Given the description of an element on the screen output the (x, y) to click on. 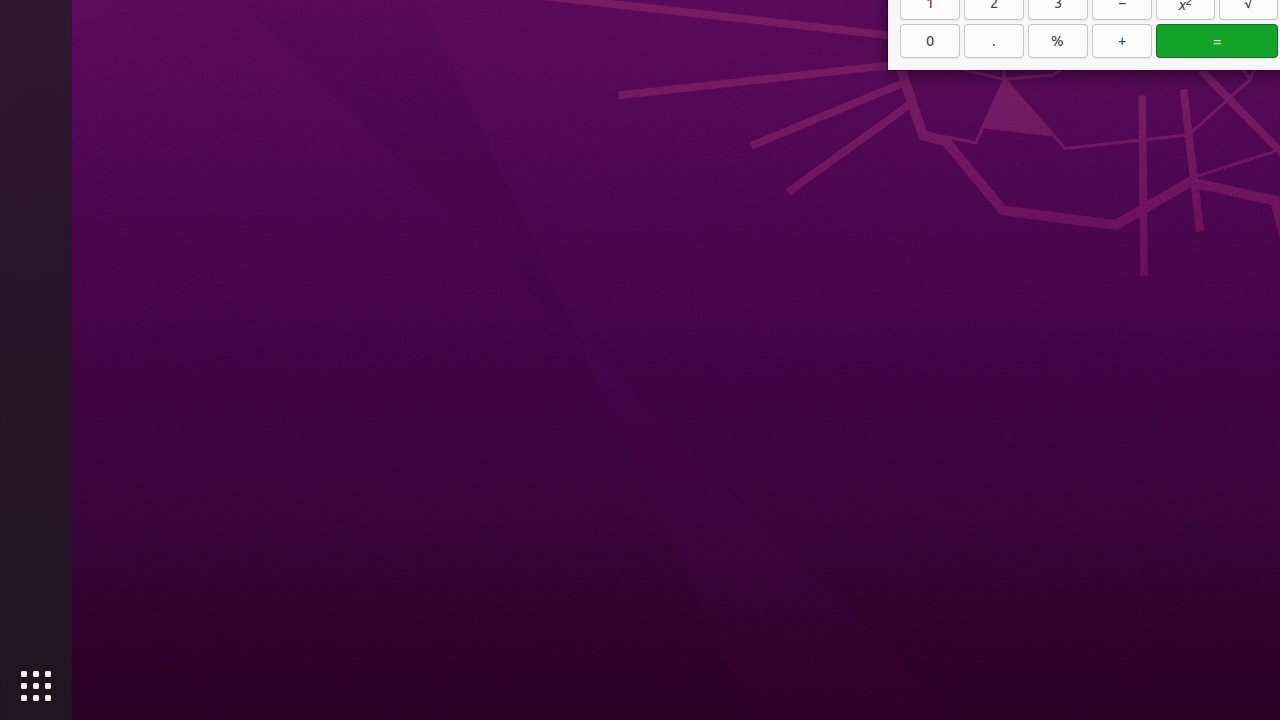
+ Element type: push-button (1122, 41)
% Element type: push-button (1058, 41)
. Element type: push-button (994, 41)
0 Element type: push-button (930, 41)
